Given the description of an element on the screen output the (x, y) to click on. 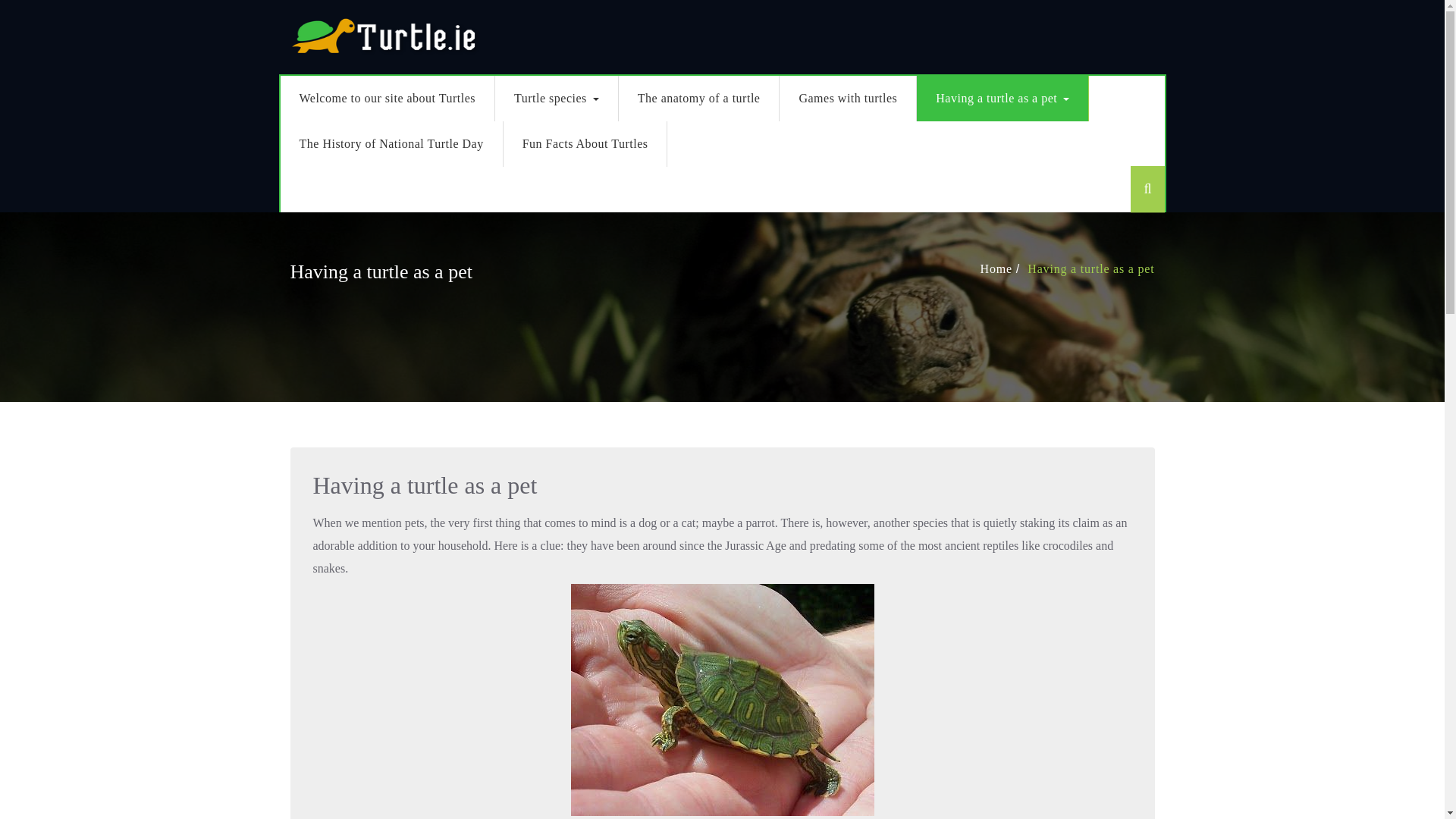
Games with turtles (847, 98)
The History of National Turtle Day (392, 144)
Businesso (384, 34)
Home (997, 268)
Welcome to our site about Turtles (388, 98)
The anatomy of a turtle (699, 98)
Turtle species (556, 98)
Fun Facts About Turtles (585, 144)
Having a turtle as a pet (1092, 268)
Having a turtle as a pet (1003, 98)
